Given the description of an element on the screen output the (x, y) to click on. 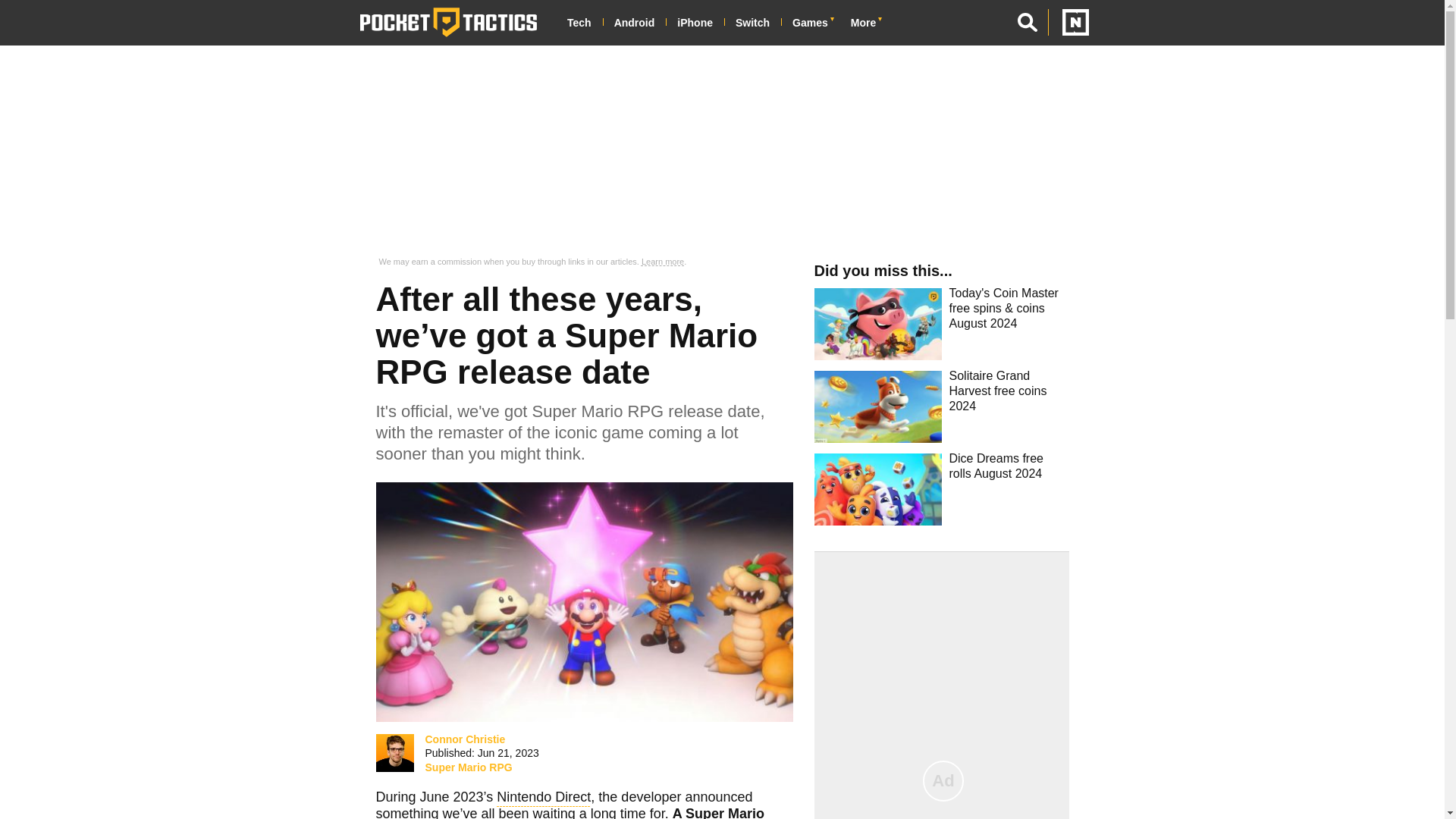
Solitaire Grand Harvest free coins 2024 (939, 410)
iPhone (700, 22)
Connor Christie (465, 739)
Super Mario RPG (468, 767)
Learn more (663, 261)
Connor Christie (394, 752)
Switch (757, 22)
Nintendo Direct (543, 798)
Android (640, 22)
Super Mario RPG (570, 812)
